Given the description of an element on the screen output the (x, y) to click on. 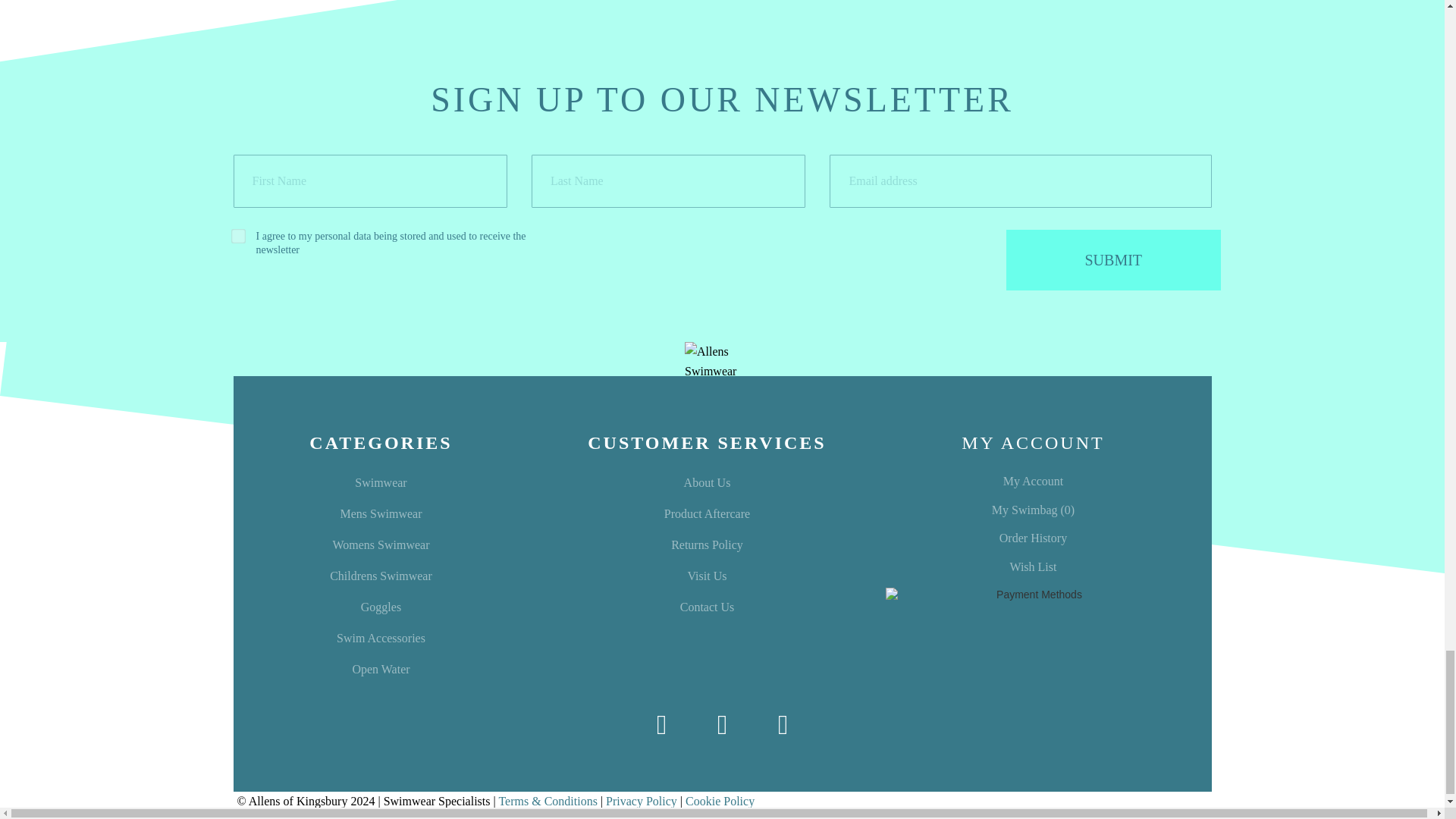
gdpr-agreement (235, 234)
